Given the description of an element on the screen output the (x, y) to click on. 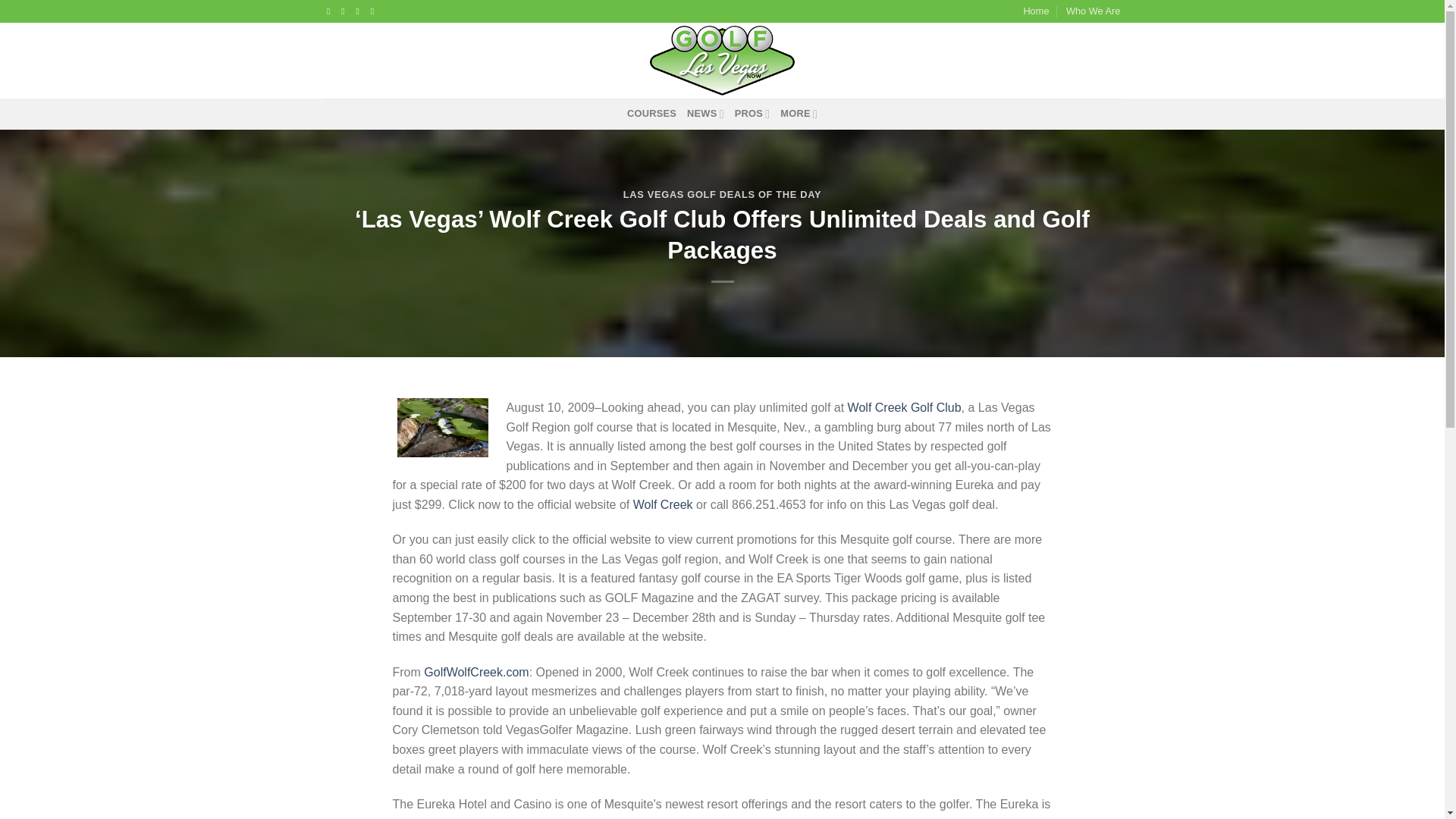
Home (1035, 11)
LAS VEGAS GOLF DEALS OF THE DAY (722, 194)
GolfWolfCreek.com (475, 671)
Who We Are (1093, 11)
Wolf Creek Golf Club (903, 407)
PROS (752, 113)
NEWS (705, 113)
COURSES (652, 113)
MORE (798, 113)
